Given the description of an element on the screen output the (x, y) to click on. 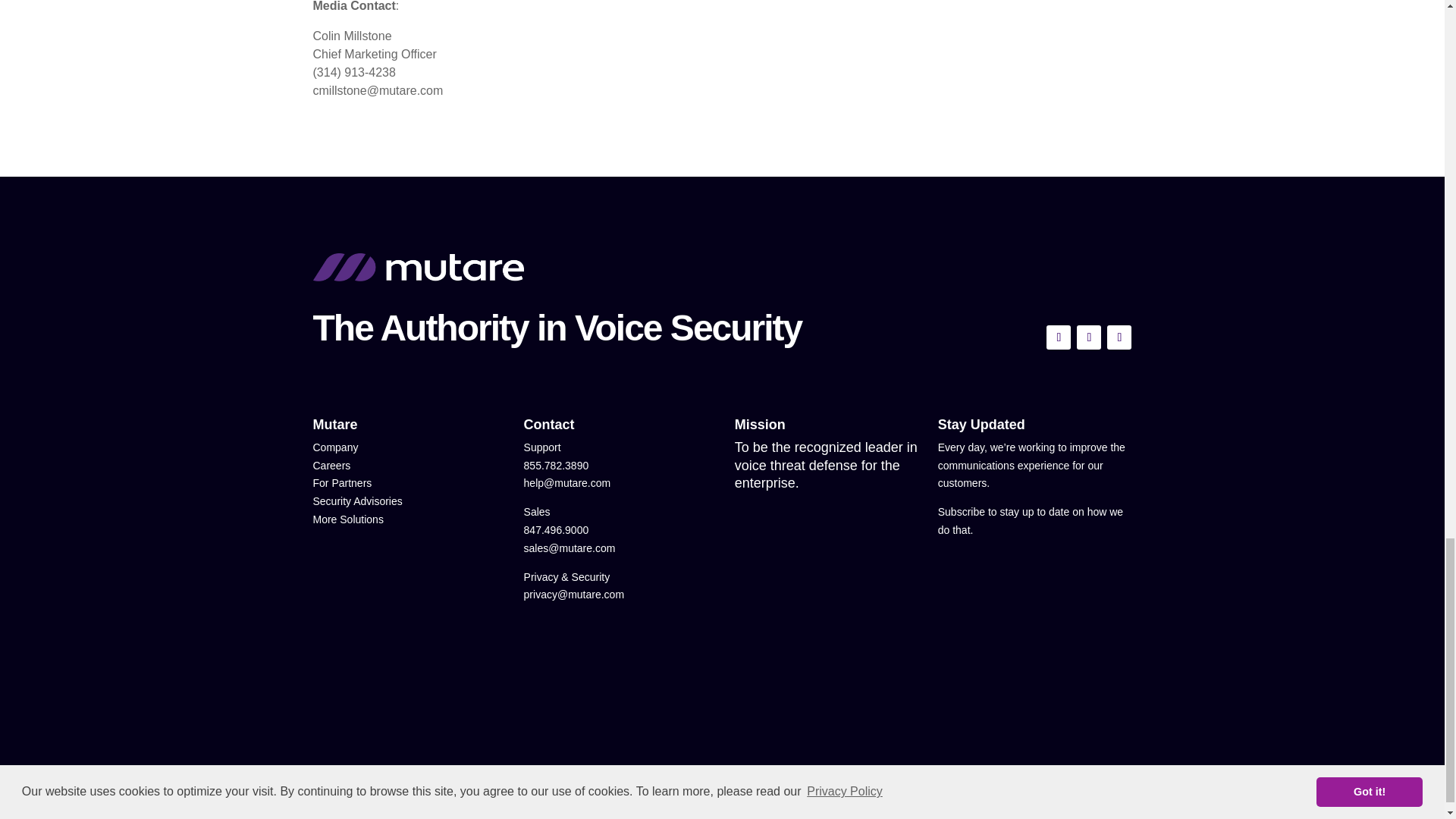
Mutare Logo White 2024 (417, 267)
Follow on Youtube (1088, 337)
Follow on Twitter (1058, 337)
Form 0 (1034, 640)
Follow on LinkedIn (1118, 337)
